Given the description of an element on the screen output the (x, y) to click on. 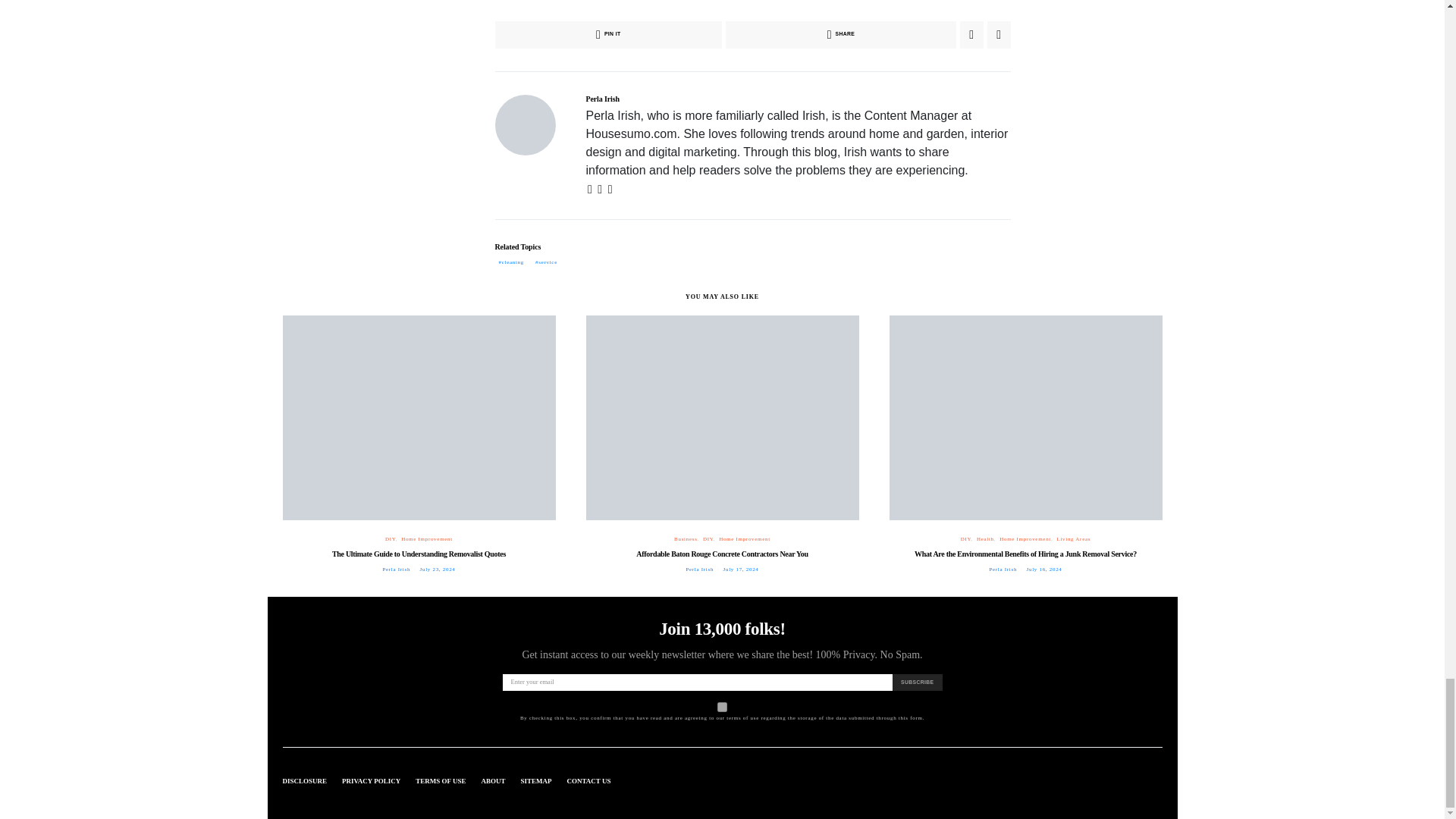
View all posts by Perla Irish (699, 569)
on (722, 706)
View all posts by Perla Irish (1002, 569)
View all posts by Perla Irish (395, 569)
